Given the description of an element on the screen output the (x, y) to click on. 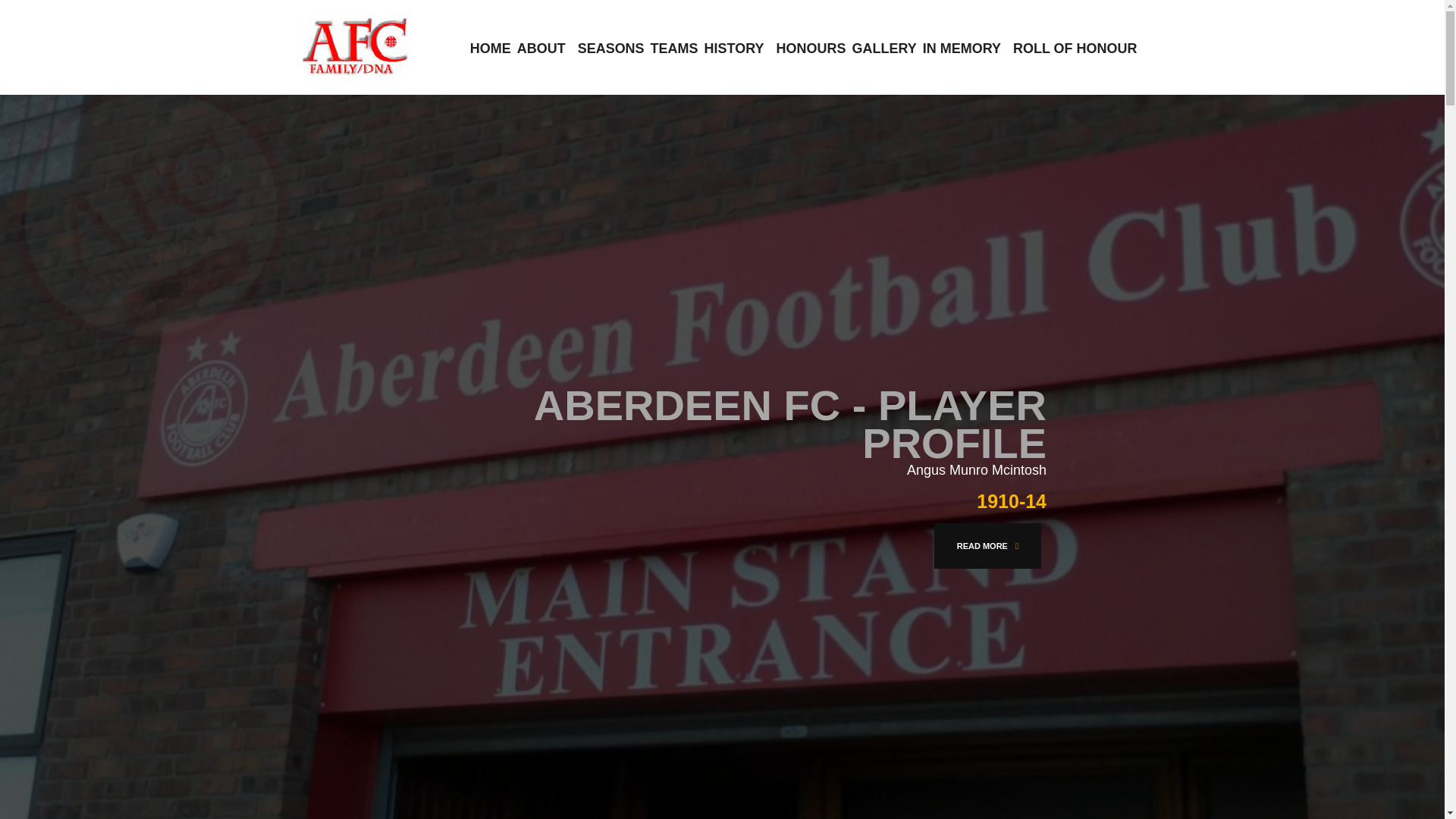
HOME (490, 48)
TEAMS (674, 48)
SEASONS (611, 48)
READ MORE (987, 546)
IN MEMORY (962, 48)
HISTORY (734, 48)
GALLERY (883, 48)
ABOUT (541, 48)
ROLL OF HONOUR (1075, 48)
HONOURS (810, 48)
